Given the description of an element on the screen output the (x, y) to click on. 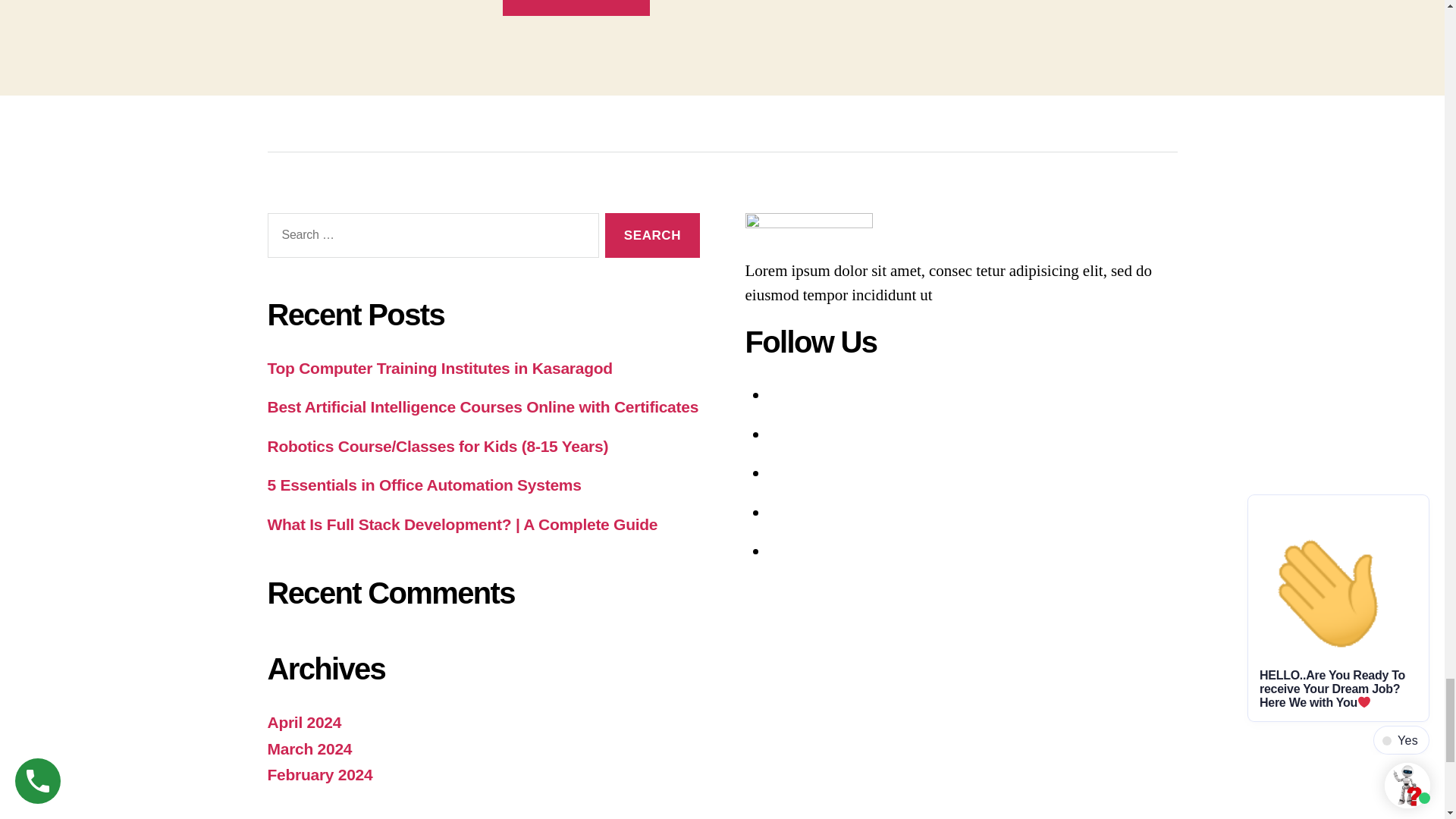
Search (651, 234)
Search (651, 234)
Post Comment (575, 8)
